Given the description of an element on the screen output the (x, y) to click on. 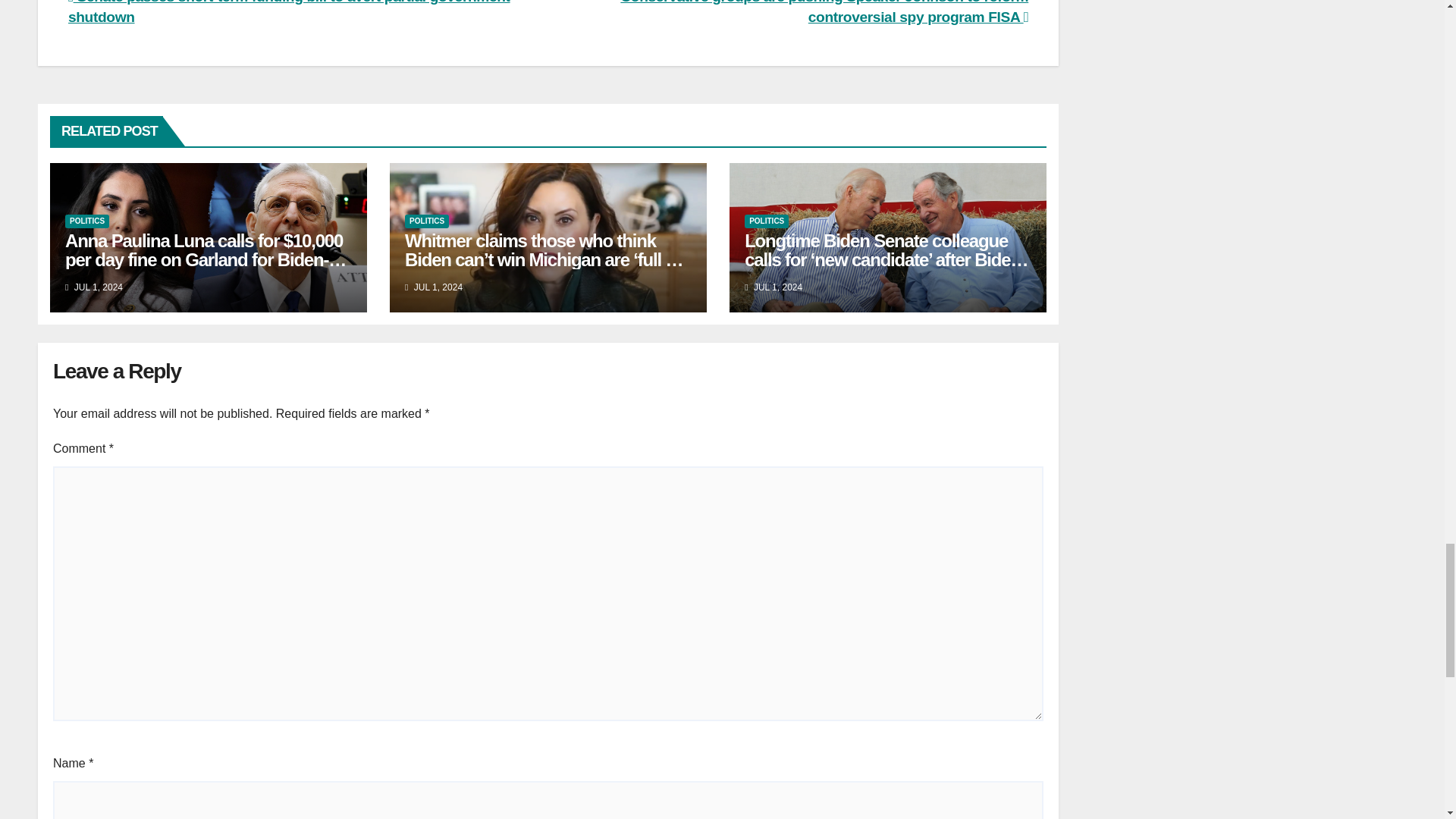
POLITICS (426, 221)
POLITICS (766, 221)
POLITICS (87, 221)
